Given the description of an element on the screen output the (x, y) to click on. 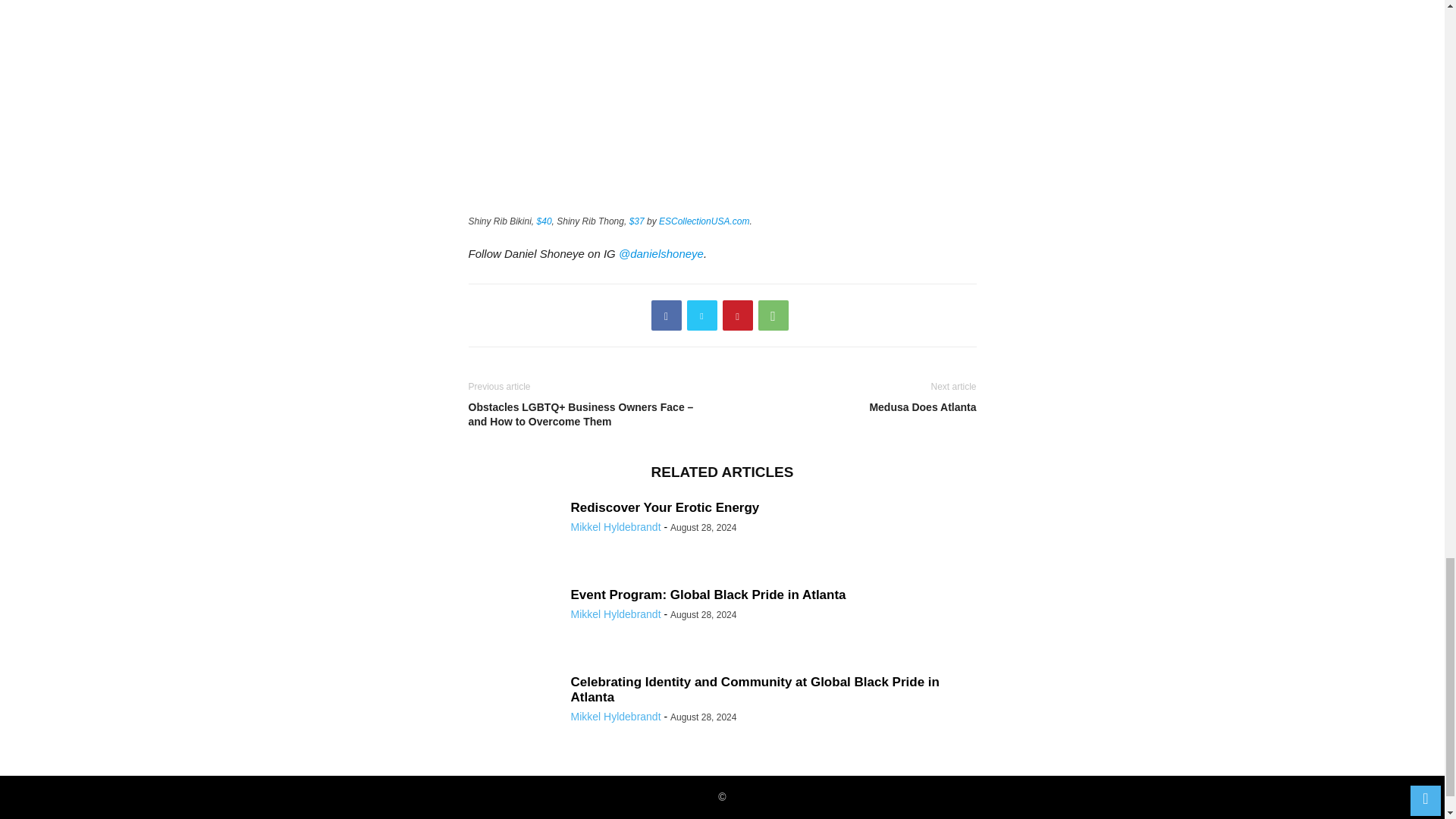
Rediscover Your Erotic Energy (513, 534)
WhatsApp (773, 315)
Event Program: Global Black Pride in Atlanta (707, 594)
Mikkel Hyldebrandt (615, 526)
Medusa Does Atlanta (852, 407)
Event Program: Global Black Pride in Atlanta (707, 594)
Rediscover Your Erotic Energy (664, 507)
Rediscover Your Erotic Energy (664, 507)
Event Program: Global Black Pride in Atlanta (513, 622)
